Given the description of an element on the screen output the (x, y) to click on. 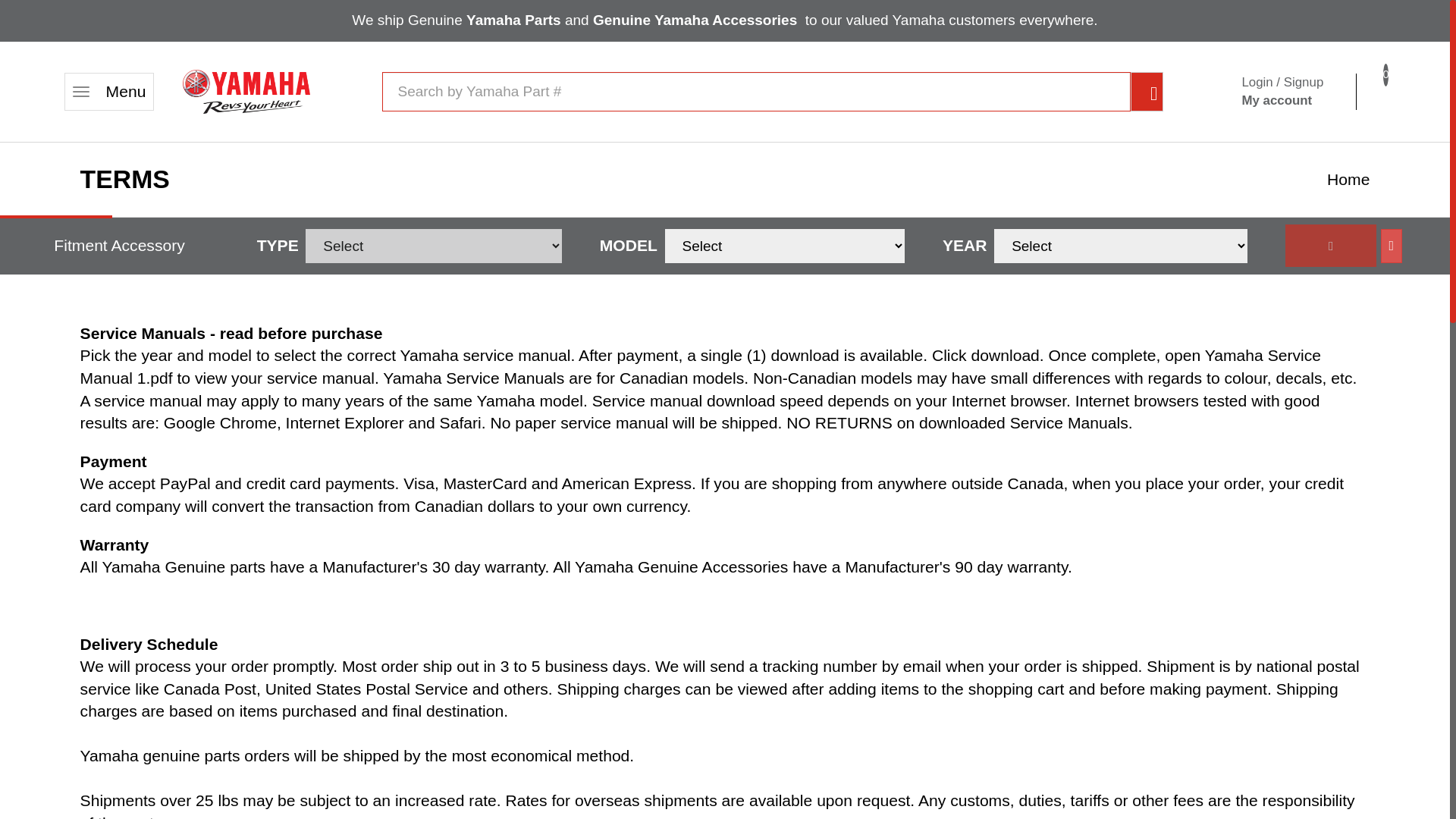
Genuine Yamaha Accessories (694, 19)
Yamaha Parts (512, 19)
Home (109, 91)
